Given the description of an element on the screen output the (x, y) to click on. 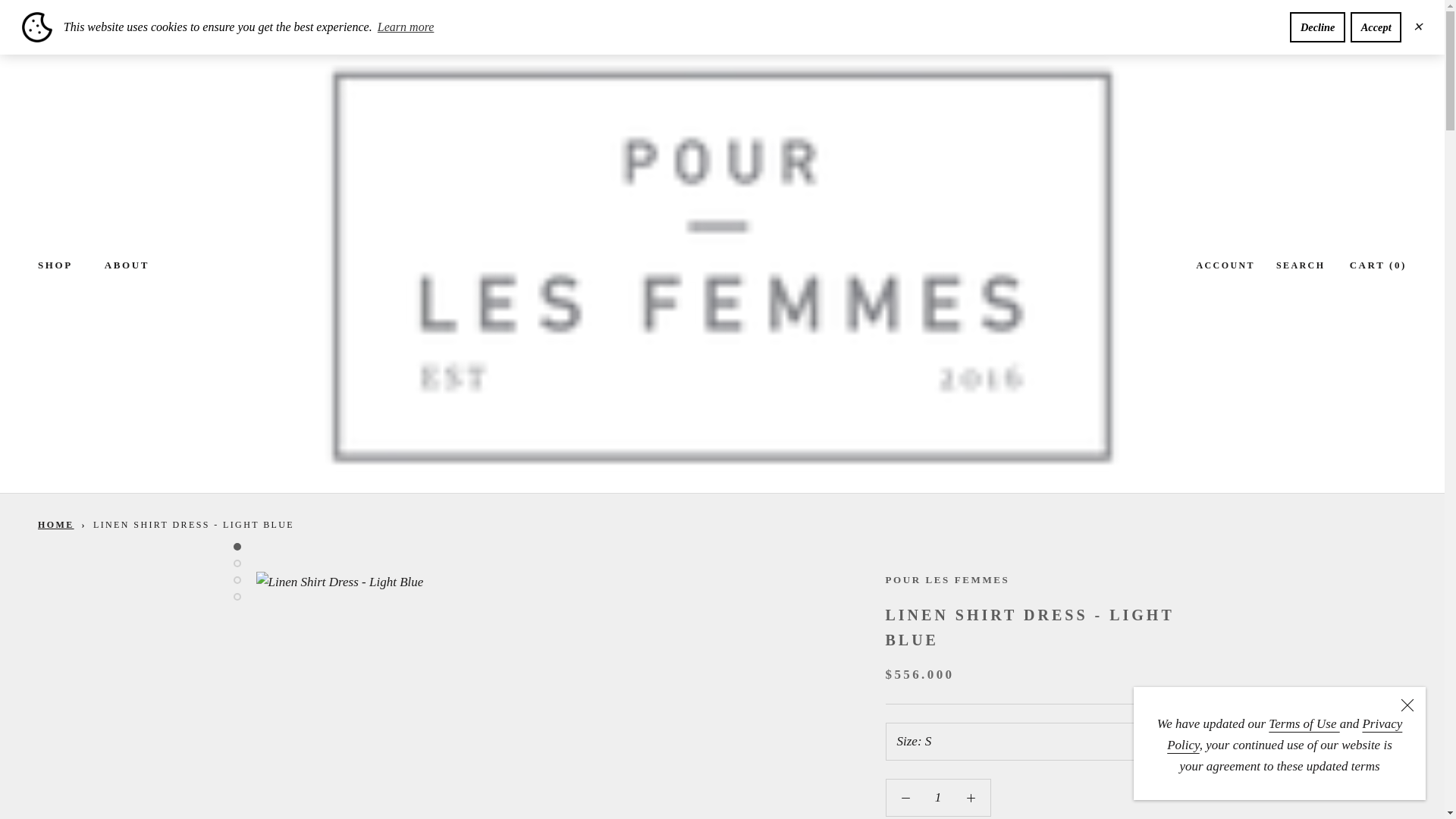
Terms of Use (1303, 723)
Website Privacy Policy (1284, 734)
SHOP (54, 265)
Terms of Use (1303, 723)
Privacy Policy (1284, 734)
Home (55, 524)
Accept (1375, 27)
1 (938, 797)
Decline (1317, 27)
Learn more (405, 26)
